Given the description of an element on the screen output the (x, y) to click on. 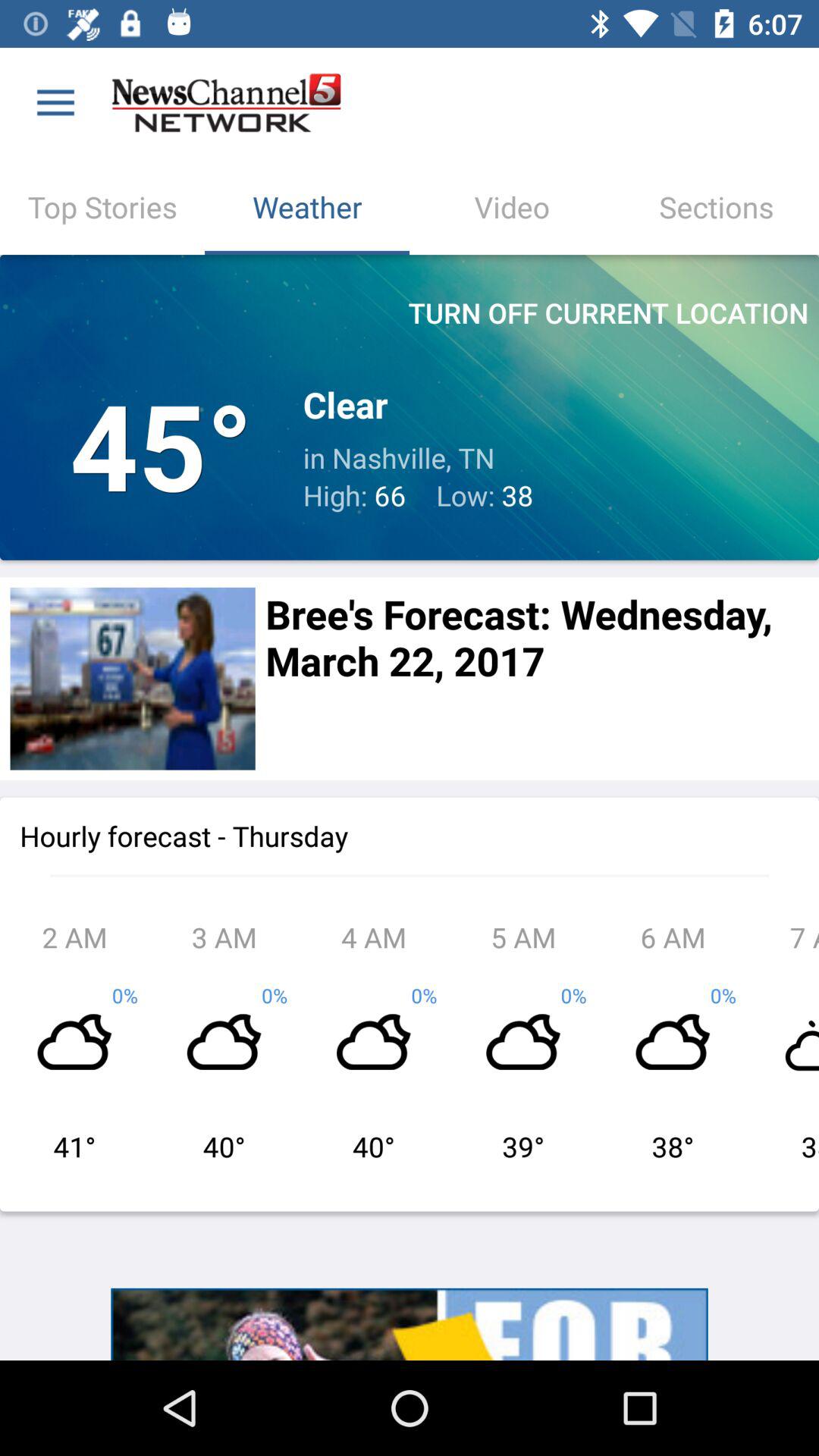
view forecast (132, 678)
